Given the description of an element on the screen output the (x, y) to click on. 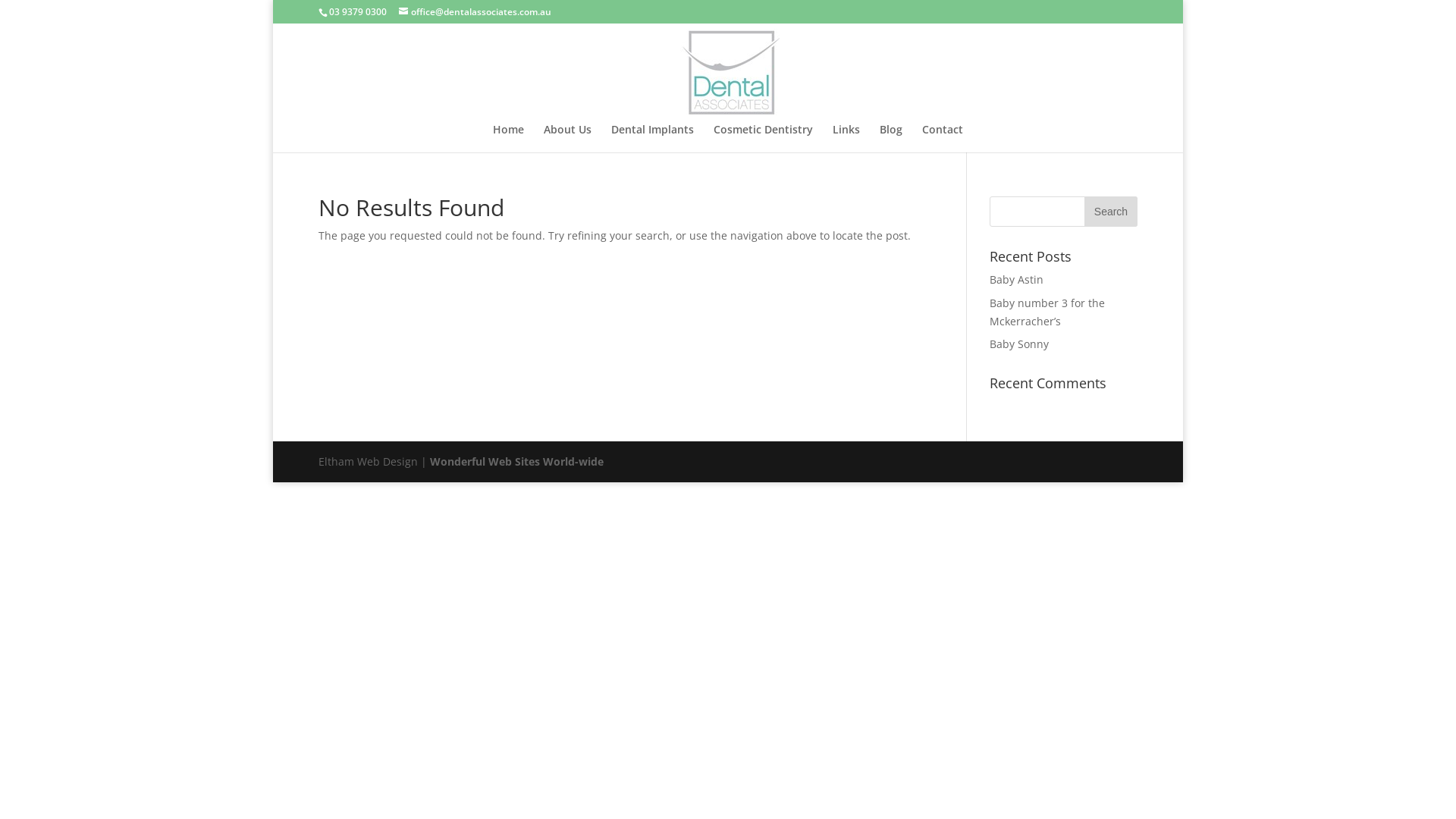
Contact Element type: text (942, 138)
Links Element type: text (845, 138)
Baby Sonny Element type: text (1018, 343)
Blog Element type: text (890, 138)
Cosmetic Dentistry Element type: text (762, 138)
Baby Astin Element type: text (1016, 279)
office@dentalassociates.com.au Element type: text (474, 11)
About Us Element type: text (567, 138)
Search Element type: text (1110, 211)
Wonderful Web Sites World-wide Element type: text (516, 461)
Dental Implants Element type: text (652, 138)
Home Element type: text (508, 138)
